Given the description of an element on the screen output the (x, y) to click on. 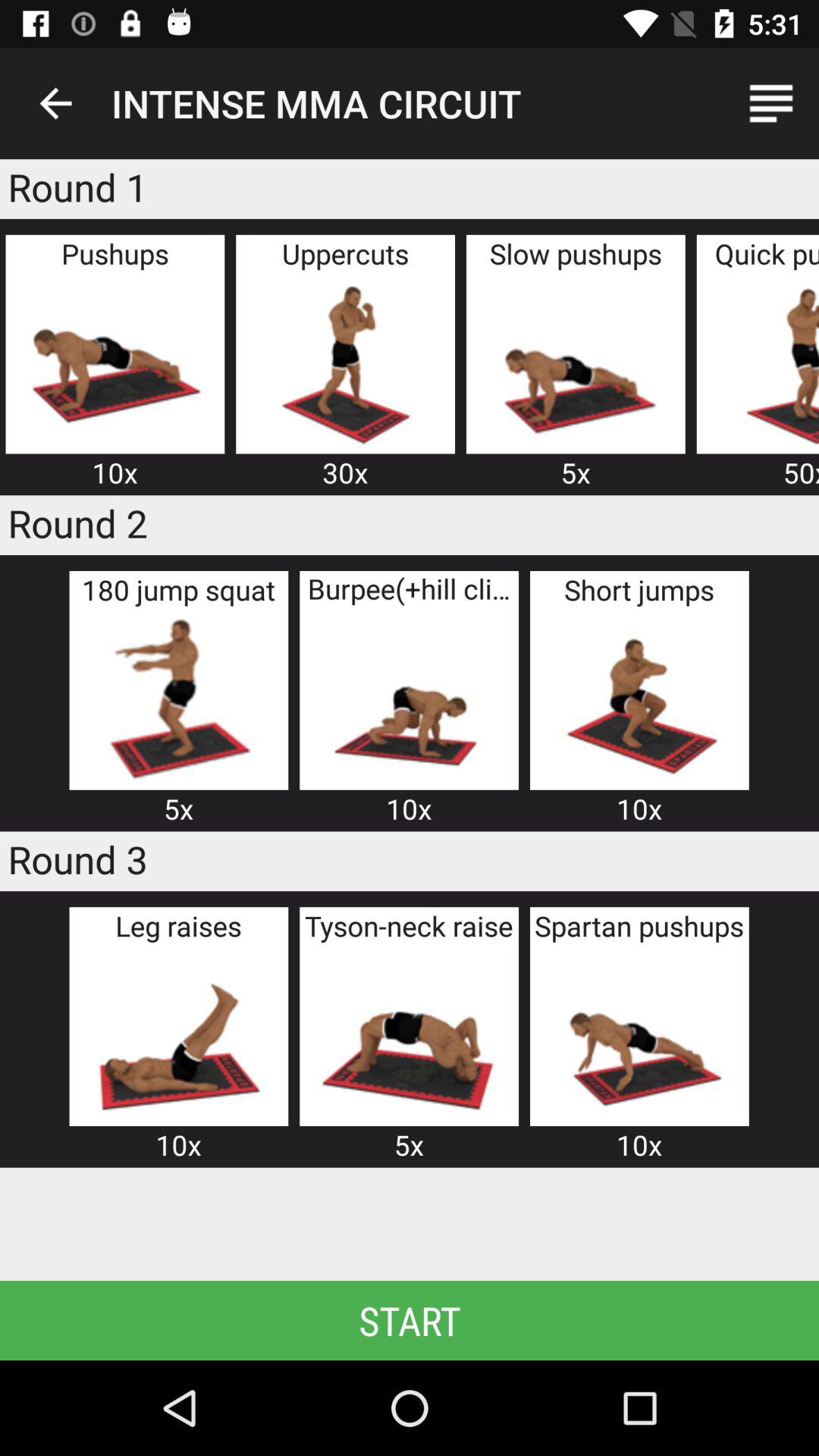
turn on item above the round 1 icon (55, 103)
